Given the description of an element on the screen output the (x, y) to click on. 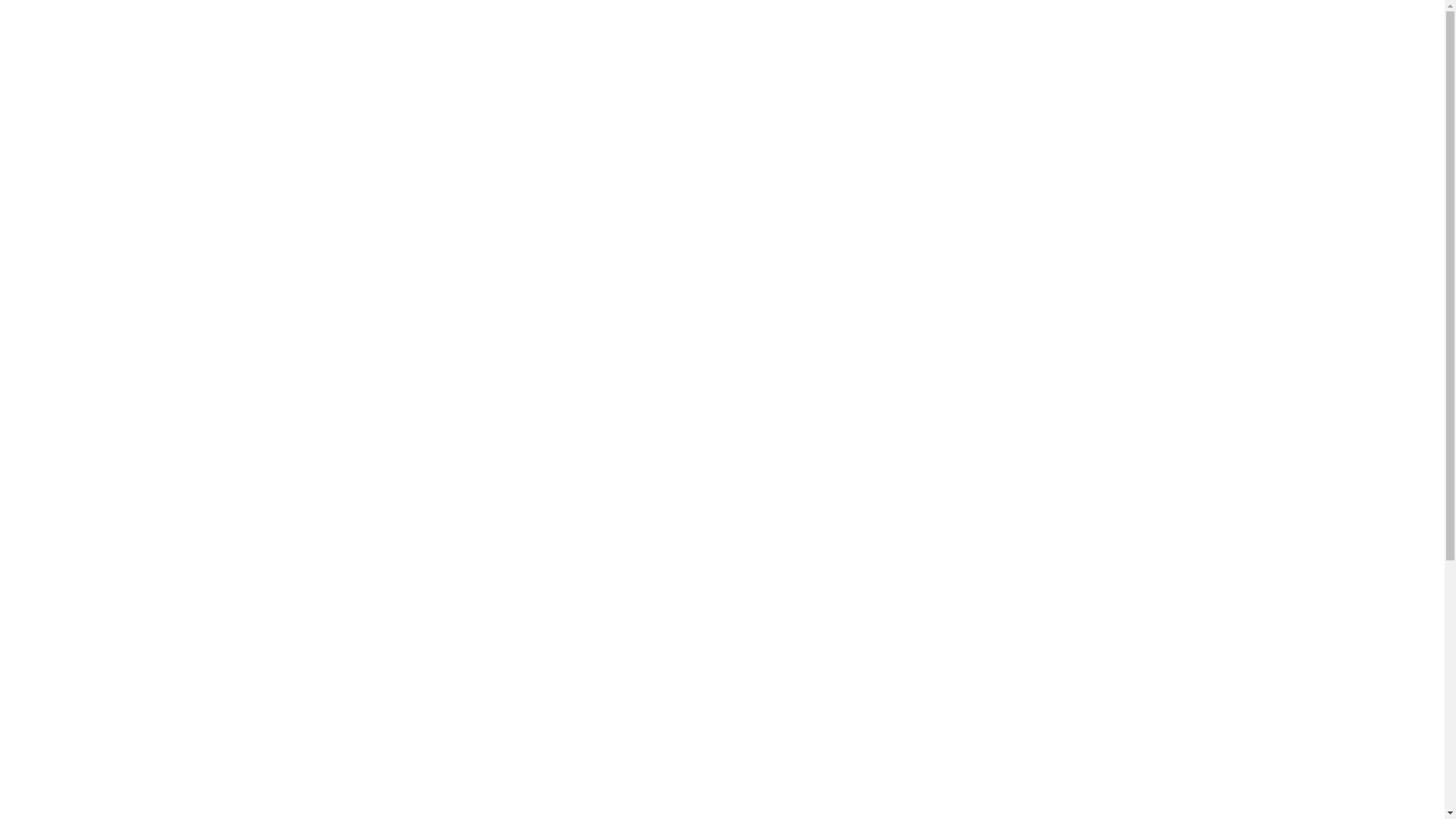
Verstuur Element type: text (889, 685)
